Given the description of an element on the screen output the (x, y) to click on. 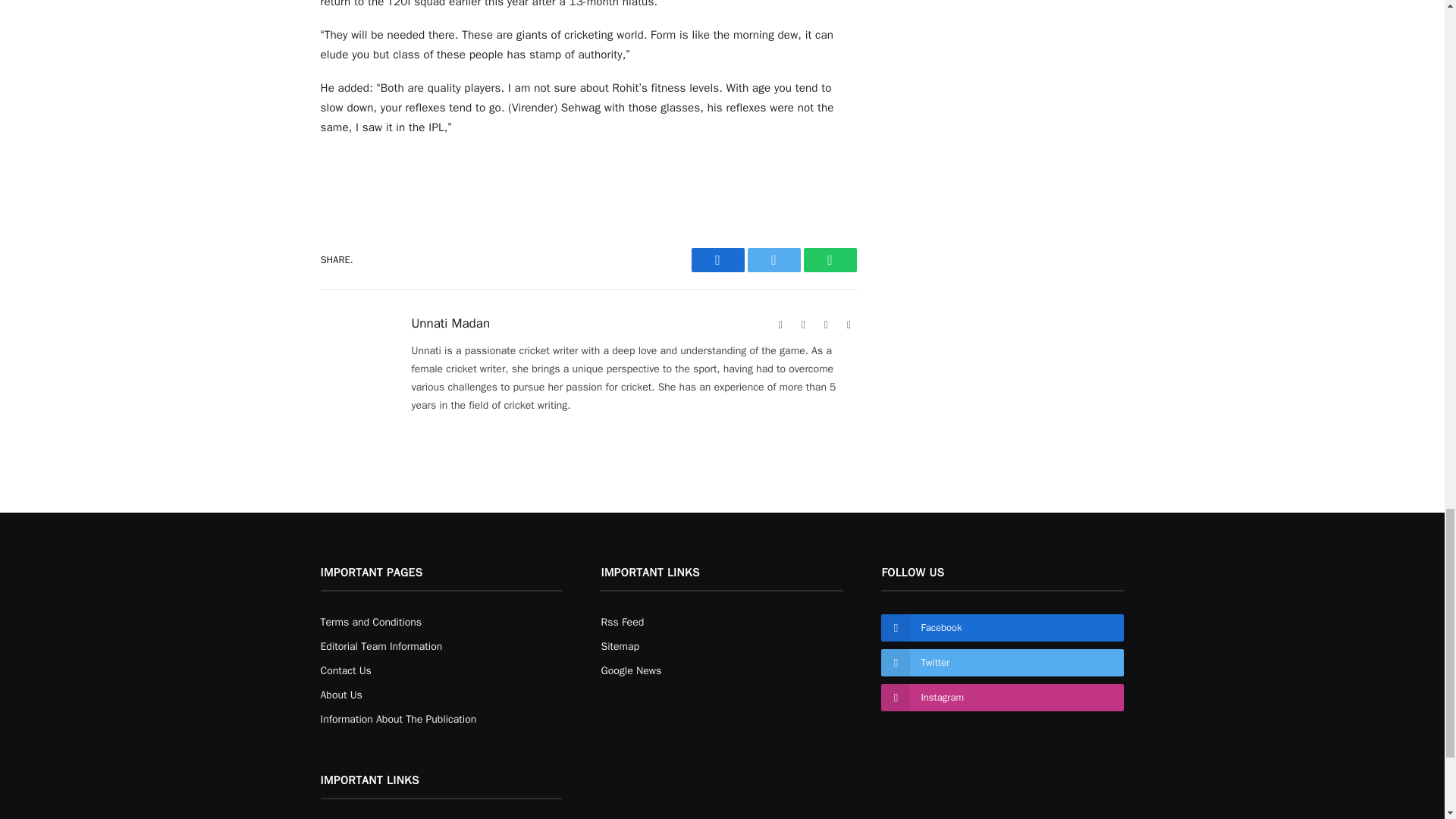
Share on Facebook (717, 259)
Twitter (774, 259)
Posts by Unnati Madan (449, 323)
Unnati Madan (449, 323)
Facebook (717, 259)
Share on WhatsApp (830, 259)
Facebook (803, 324)
WhatsApp (830, 259)
Website (781, 324)
Instagram (849, 324)
